Given the description of an element on the screen output the (x, y) to click on. 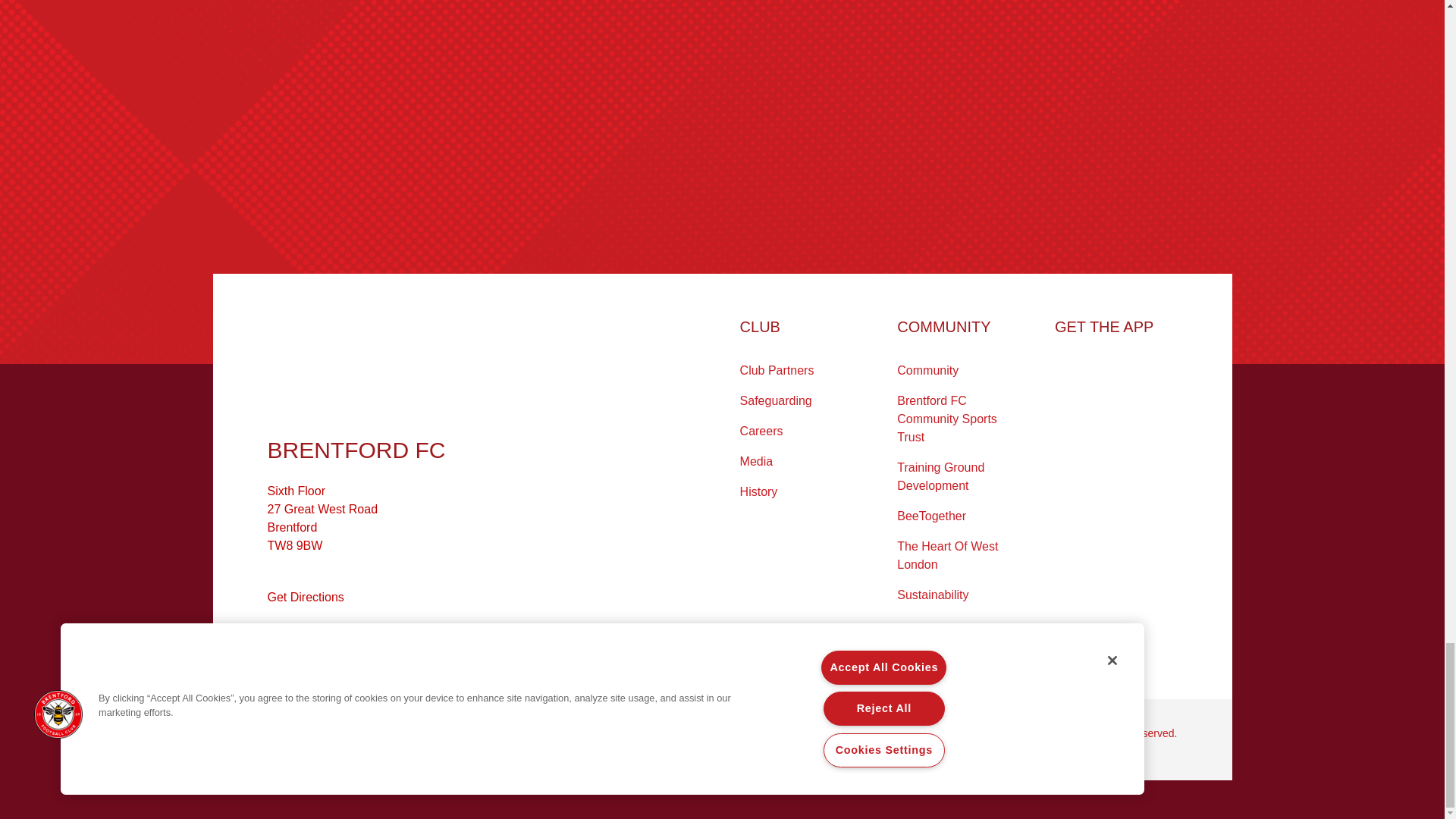
facebook (276, 644)
youtube (338, 644)
twitter (306, 644)
instagram (368, 644)
